Given the description of an element on the screen output the (x, y) to click on. 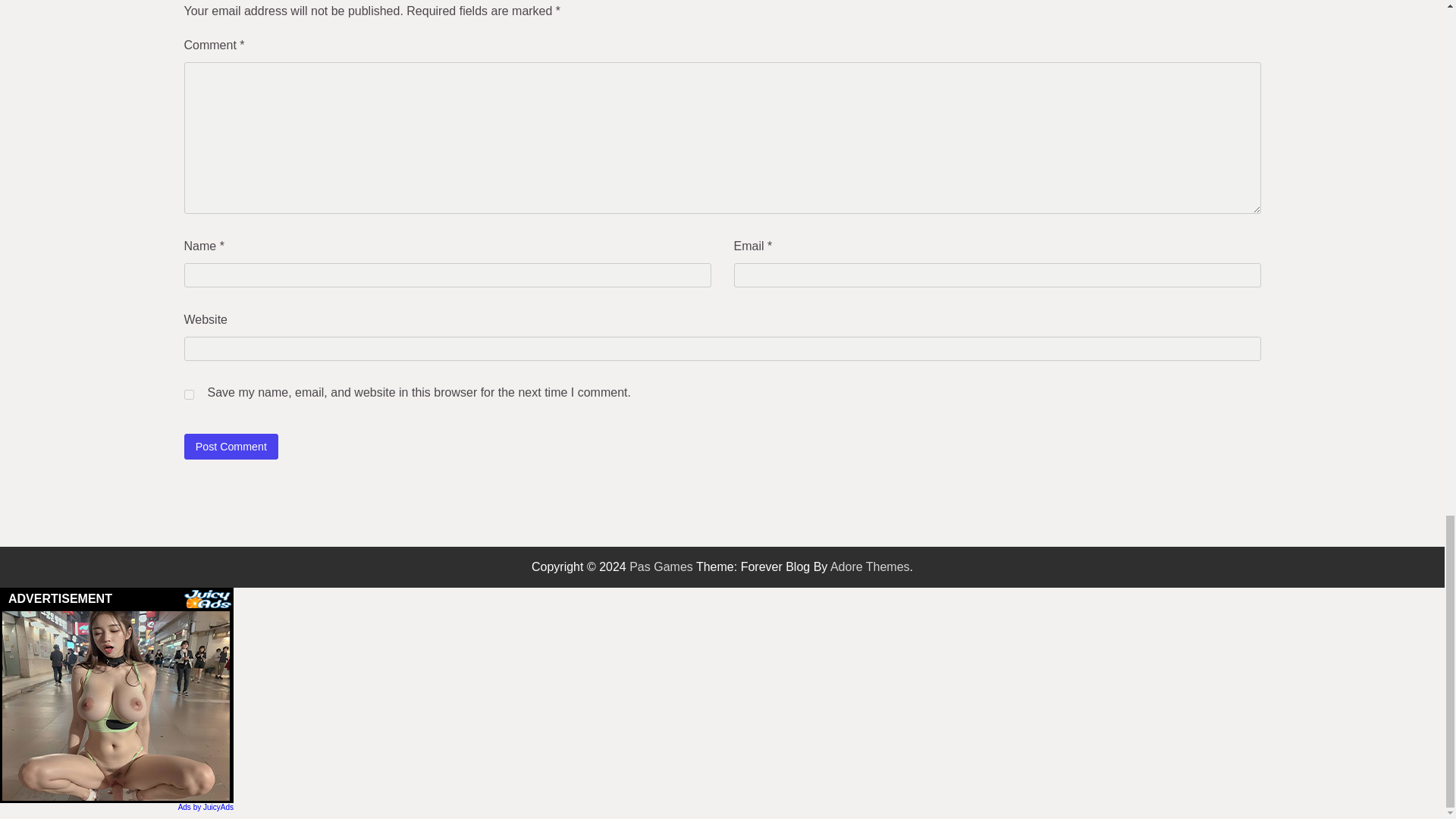
Post Comment (230, 446)
yes (188, 394)
